Given the description of an element on the screen output the (x, y) to click on. 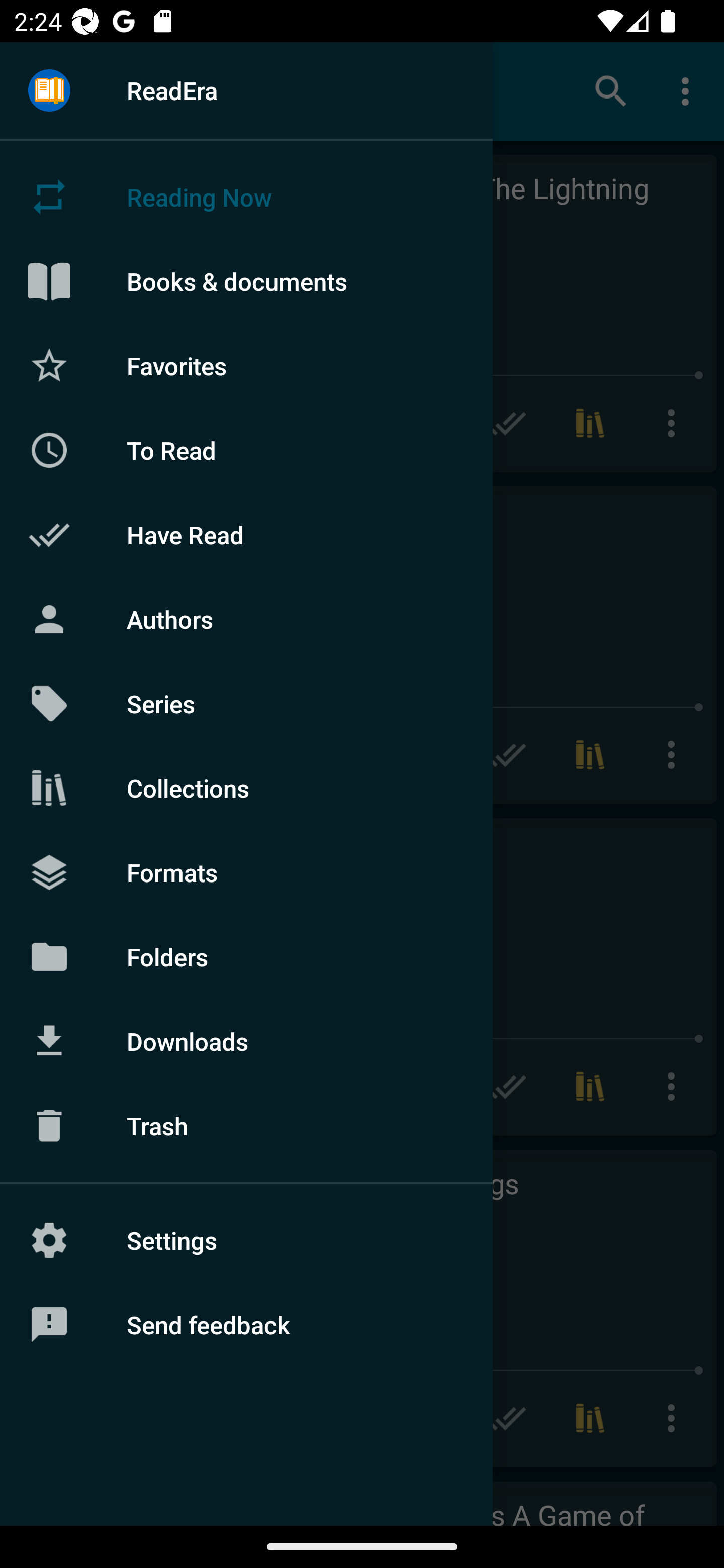
Menu (49, 91)
ReadEra (246, 89)
Search books & documents (611, 90)
More options (688, 90)
Reading Now (246, 197)
Books & documents (246, 281)
Favorites (246, 365)
To Read (246, 449)
Have Read (246, 534)
Authors (246, 619)
Series (246, 703)
Collections (246, 787)
Formats (246, 871)
Folders (246, 956)
Downloads (246, 1040)
Trash (246, 1125)
Settings (246, 1239)
Send feedback (246, 1324)
